Given the description of an element on the screen output the (x, y) to click on. 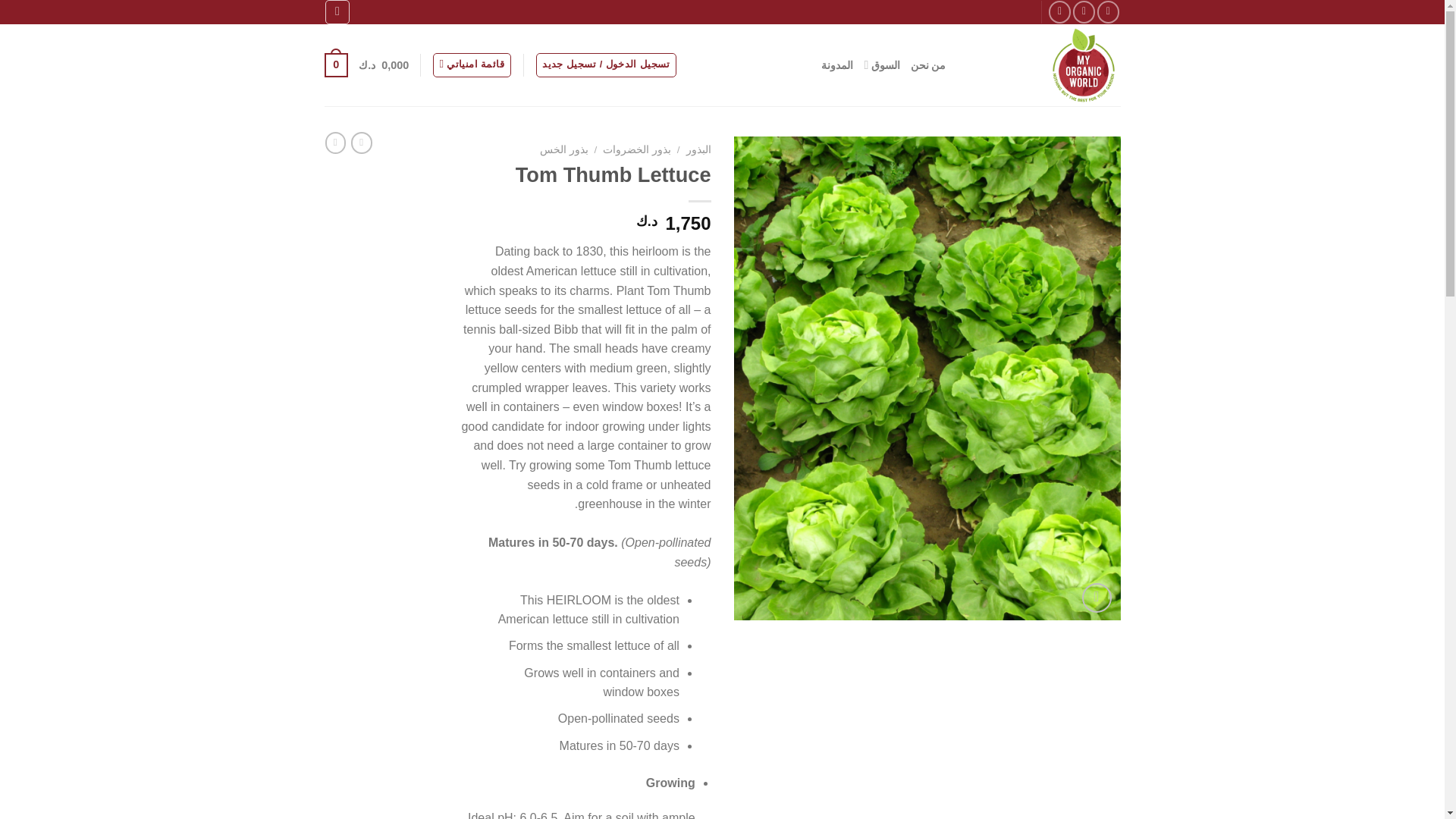
My Organic World - NOTHING BUT THE BEST FOR YOUR GARDEN (1045, 65)
